Given the description of an element on the screen output the (x, y) to click on. 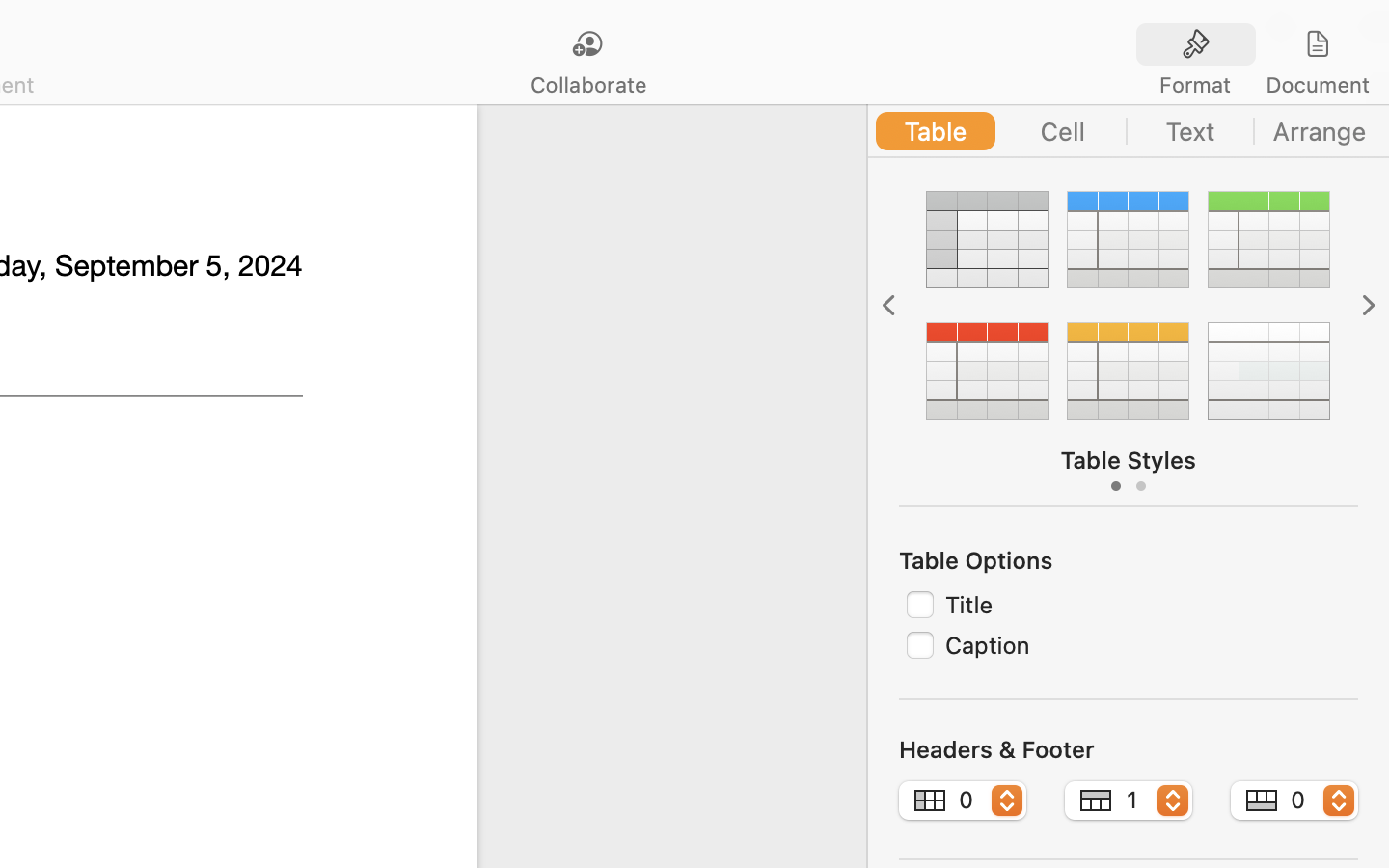
Table Options Element type: AXStaticText (976, 559)
<AXUIElement 0x2a7e7b5e0> {pid=1482} Element type: AXGroup (1256, 45)
<AXUIElement 0x1774f1cf0> {pid=1482} Element type: AXRadioGroup (1128, 131)
